Given the description of an element on the screen output the (x, y) to click on. 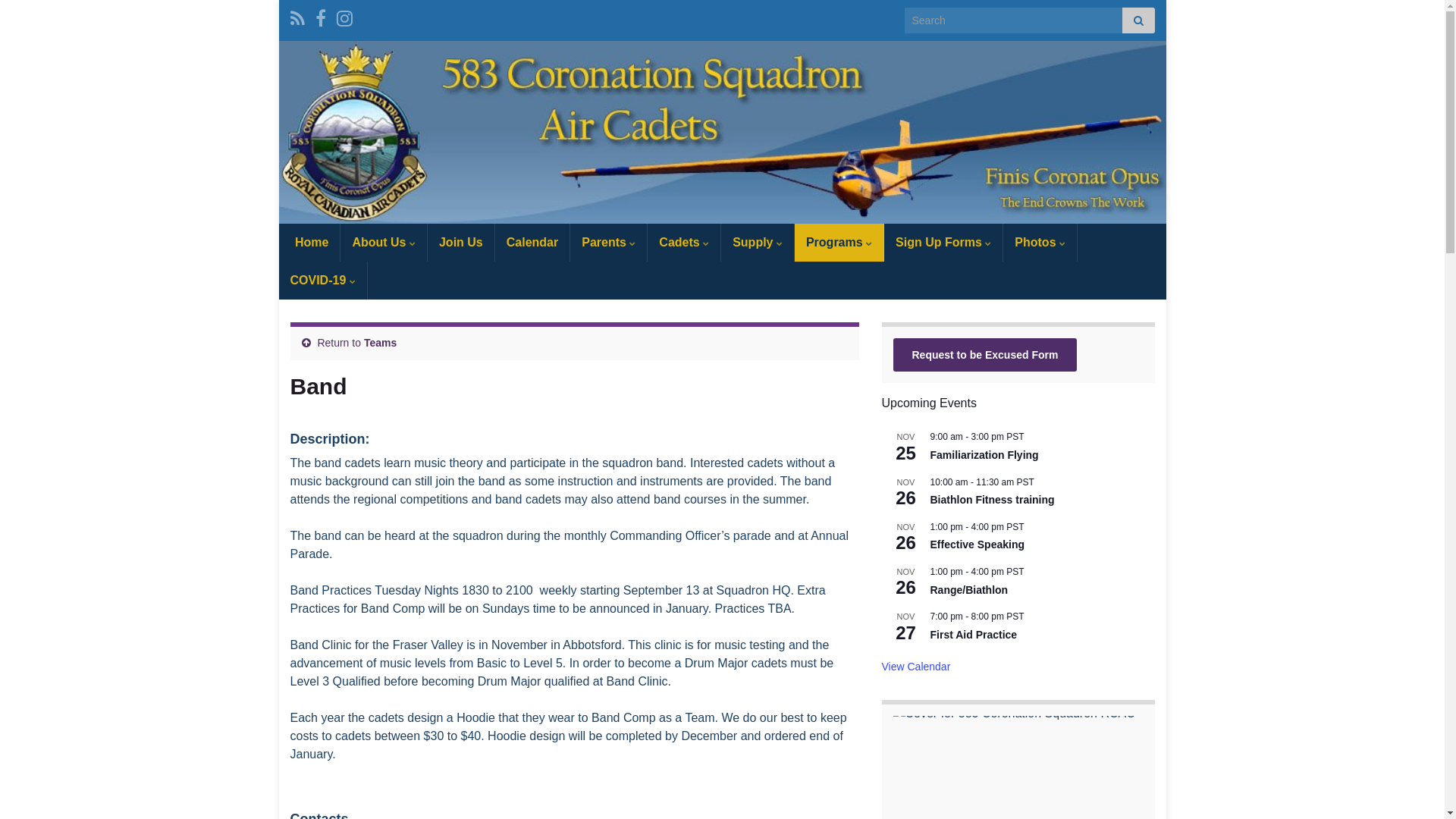
About Us Element type: text (383, 242)
COVID-19 Element type: text (323, 280)
Subscribe to 583 Coronation Squadron's RSS feed Element type: hover (296, 16)
Programs Element type: text (838, 242)
  Element type: text (722, 131)
Sign Up Forms Element type: text (943, 242)
583cadetsbanner01t Element type: hover (722, 131)
First Aid Practice Element type: text (972, 634)
Effective Speaking Element type: text (976, 544)
Parents Element type: text (608, 242)
Calendar Element type: text (532, 242)
Cadets Element type: text (683, 242)
Familiarization Flying Element type: text (983, 454)
Biathlon Fitness training Element type: text (991, 499)
Teams Element type: text (380, 342)
Supply Element type: text (757, 242)
Range/Biathlon Element type: text (968, 589)
Request to be Excused Form Element type: text (985, 354)
Home Element type: text (309, 242)
View Calendar Element type: text (915, 666)
Facebook Element type: hover (320, 16)
Instagram Element type: hover (344, 16)
Photos Element type: text (1039, 242)
Join Us Element type: text (460, 242)
